Given the description of an element on the screen output the (x, y) to click on. 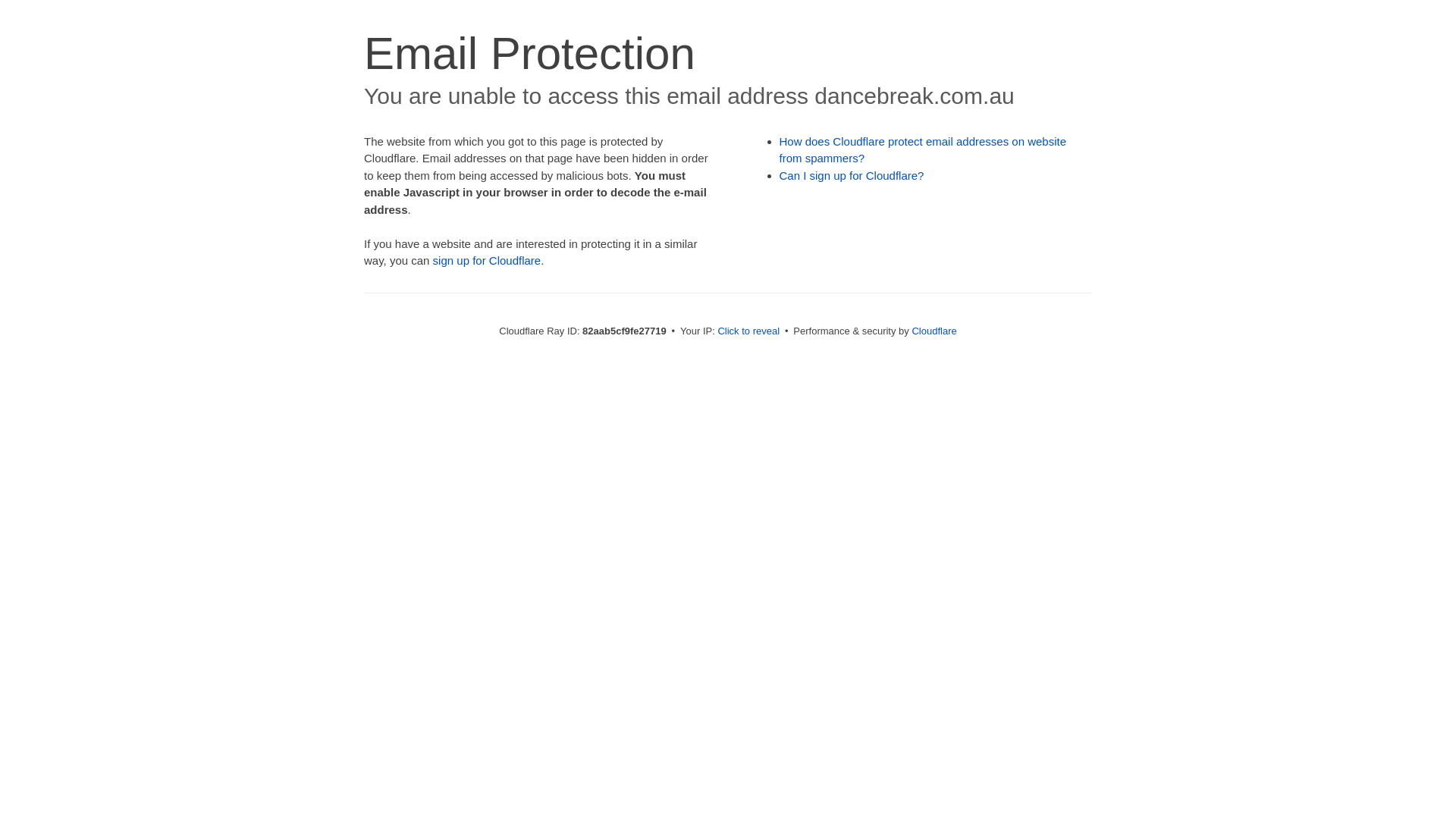
Can I sign up for Cloudflare? Element type: text (851, 175)
sign up for Cloudflare Element type: text (487, 260)
Click to reveal Element type: text (748, 330)
Cloudflare Element type: text (933, 330)
